Given the description of an element on the screen output the (x, y) to click on. 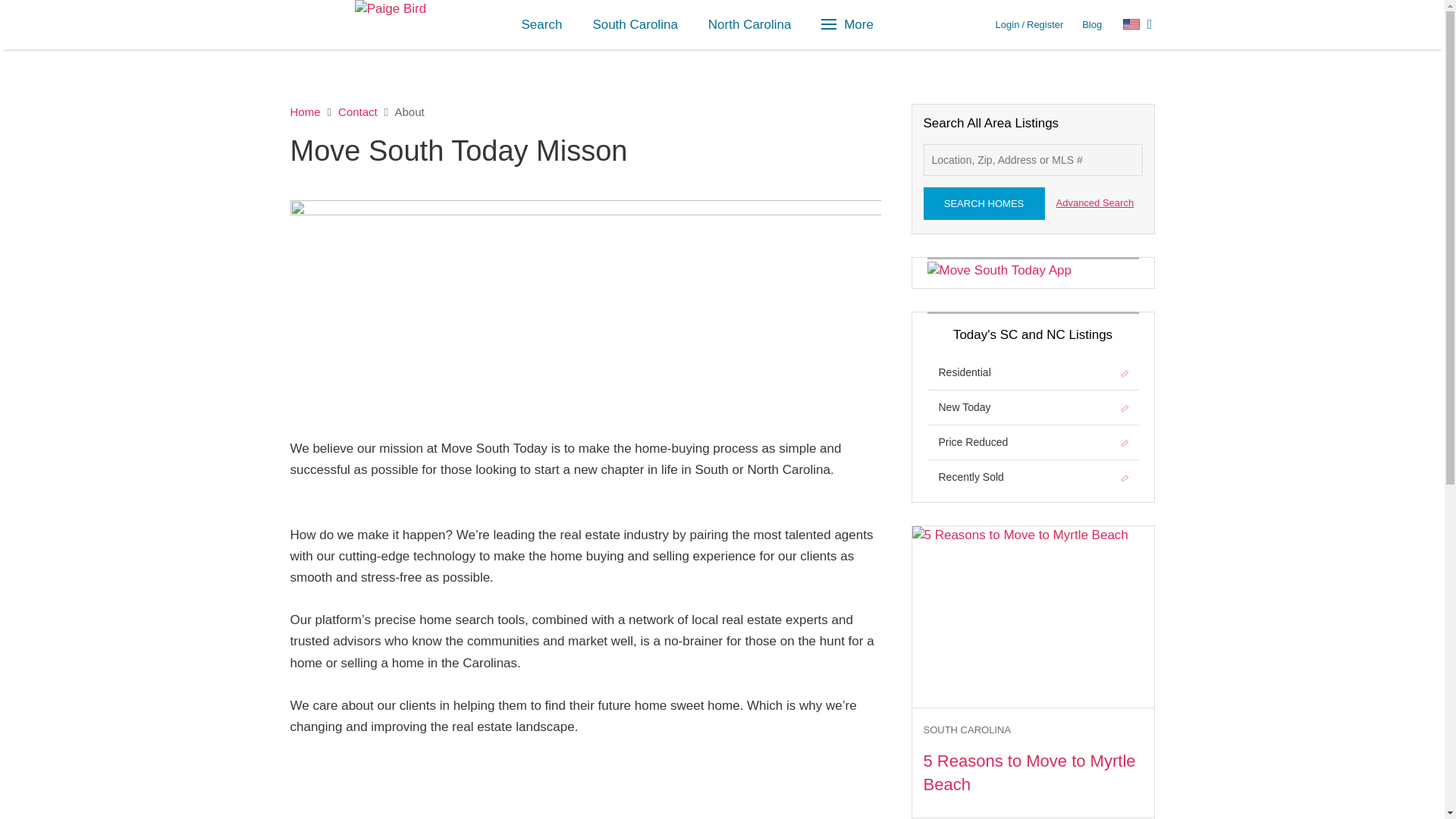
South Carolina (634, 24)
North Carolina (749, 24)
Search (542, 24)
Move South Today App (998, 270)
Select Language (1137, 24)
Move South Today App Download (998, 269)
